Given the description of an element on the screen output the (x, y) to click on. 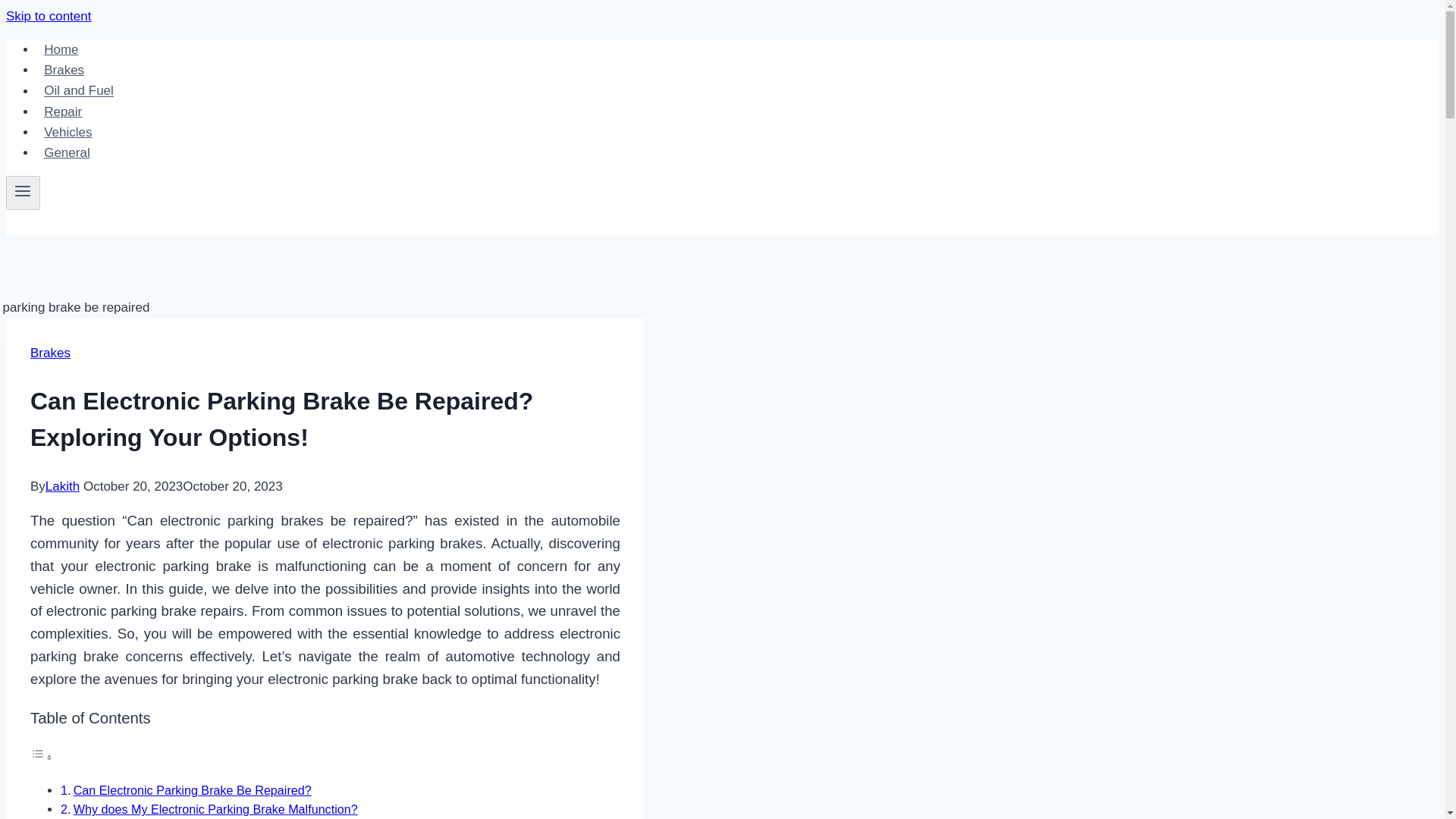
Why does My Electronic Parking Brake Malfunction? (216, 808)
Why does My Electronic Parking Brake Malfunction? (216, 808)
Skip to content (47, 16)
General (66, 152)
Skip to content (47, 16)
Vehicles (68, 132)
Brakes (63, 70)
Toggle Menu (22, 192)
Can Electronic Parking Brake Be Repaired? (192, 789)
Oil and Fuel (78, 90)
Brakes (49, 352)
Toggle Menu (22, 190)
Repair (62, 111)
Can Electronic Parking Brake Be Repaired? (192, 789)
Lakith (62, 486)
